Given the description of an element on the screen output the (x, y) to click on. 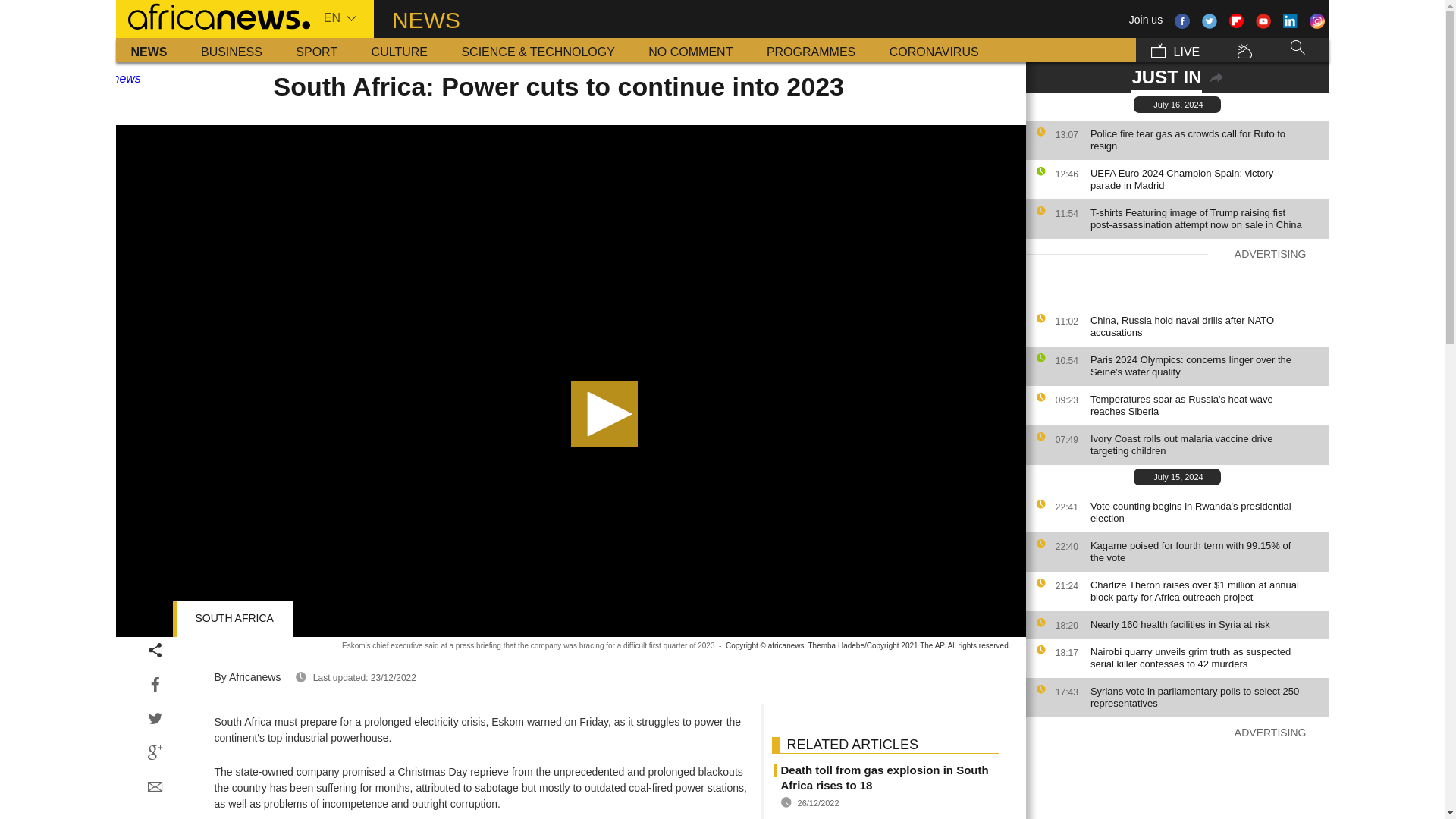
CULTURE (399, 49)
PROGRAMMES (810, 49)
SPORT (316, 49)
Culture (399, 49)
Africanews (211, 15)
Programmes (810, 49)
Sport (316, 49)
Coronavirus (934, 49)
NO COMMENT (690, 49)
Police fire tear gas as crowds call for Ruto to resign (1206, 139)
LIVE (1174, 49)
News (148, 49)
CORONAVIRUS (934, 49)
